Given the description of an element on the screen output the (x, y) to click on. 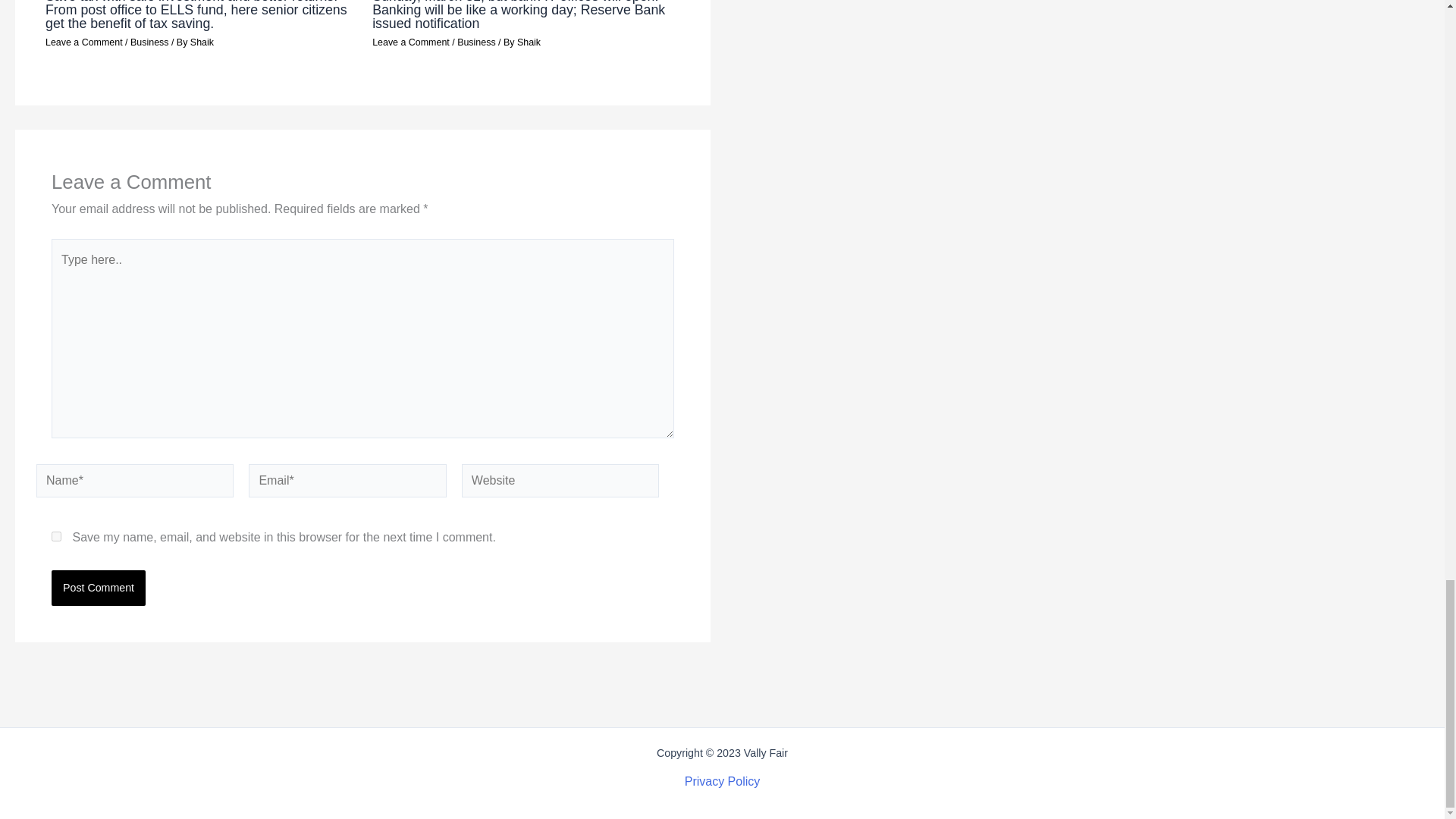
View all posts by Shaik (528, 41)
Shaik (202, 41)
Leave a Comment (410, 41)
Business (149, 41)
Post Comment (97, 587)
Leave a Comment (83, 41)
yes (55, 536)
Shaik (528, 41)
Post Comment (97, 587)
View all posts by Shaik (202, 41)
Business (476, 41)
